Given the description of an element on the screen output the (x, y) to click on. 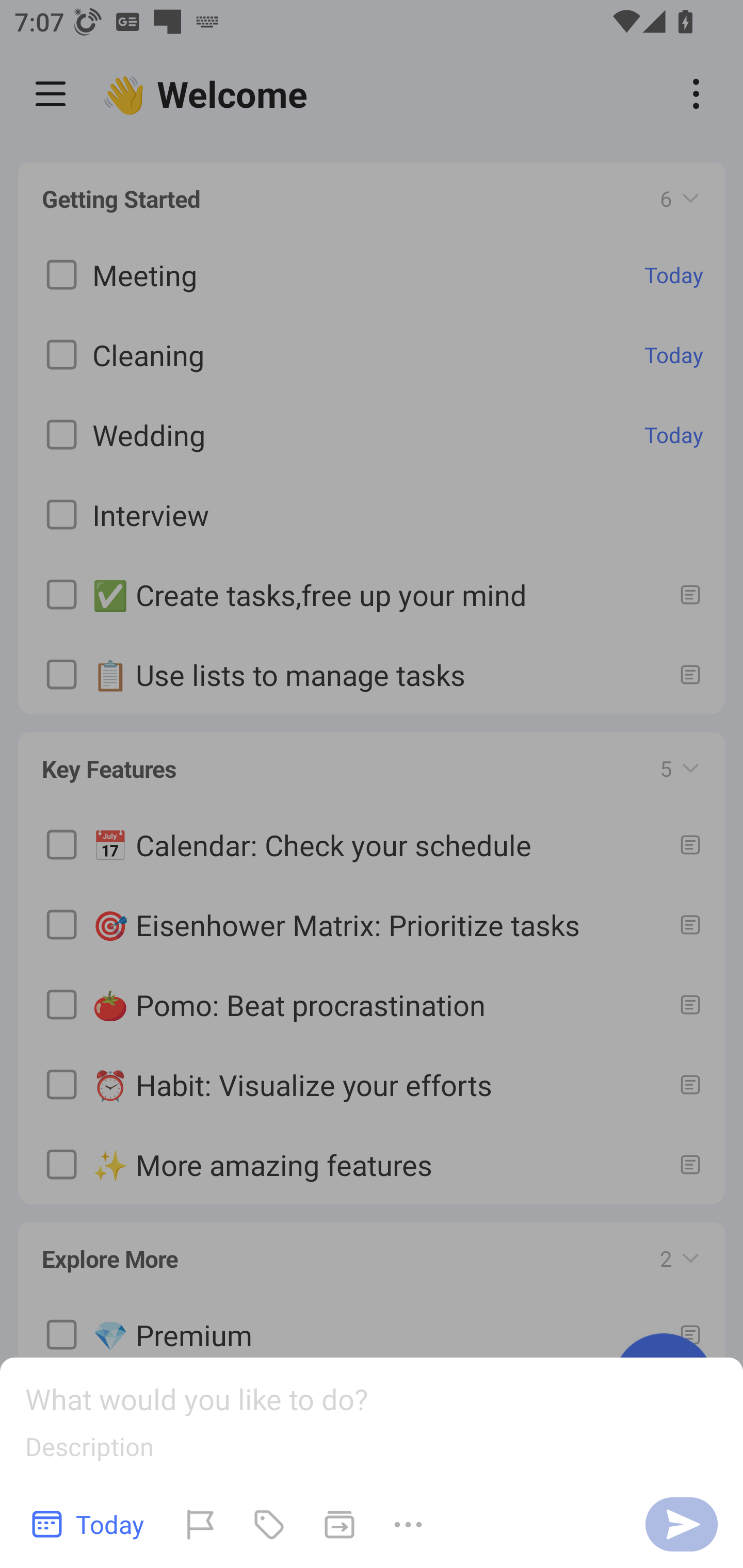
What would you like to do? Description Today (371, 1462)
Today (88, 1523)
